Given the description of an element on the screen output the (x, y) to click on. 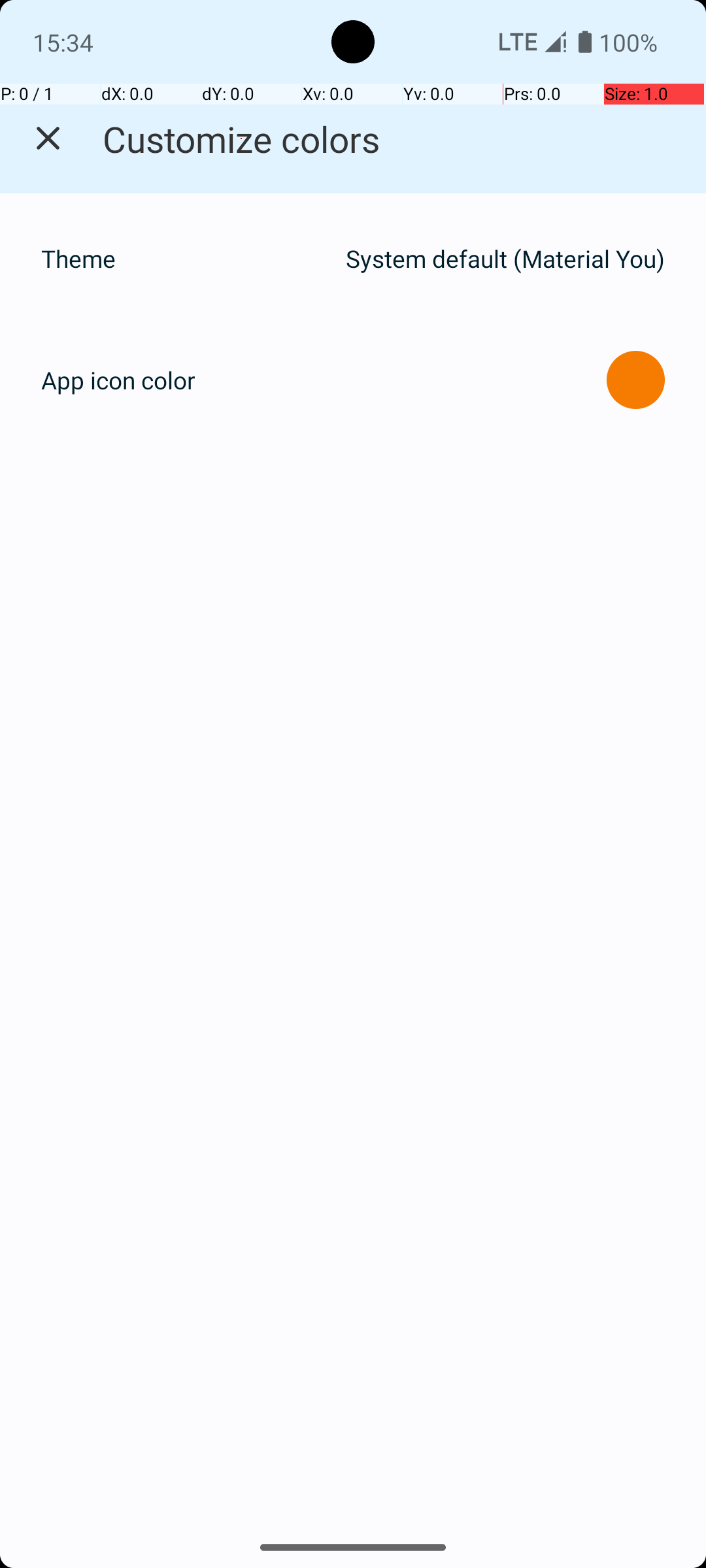
System default (Material You) Element type: android.widget.TextView (504, 258)
App icon color Element type: android.widget.TextView (118, 379)
